Given the description of an element on the screen output the (x, y) to click on. 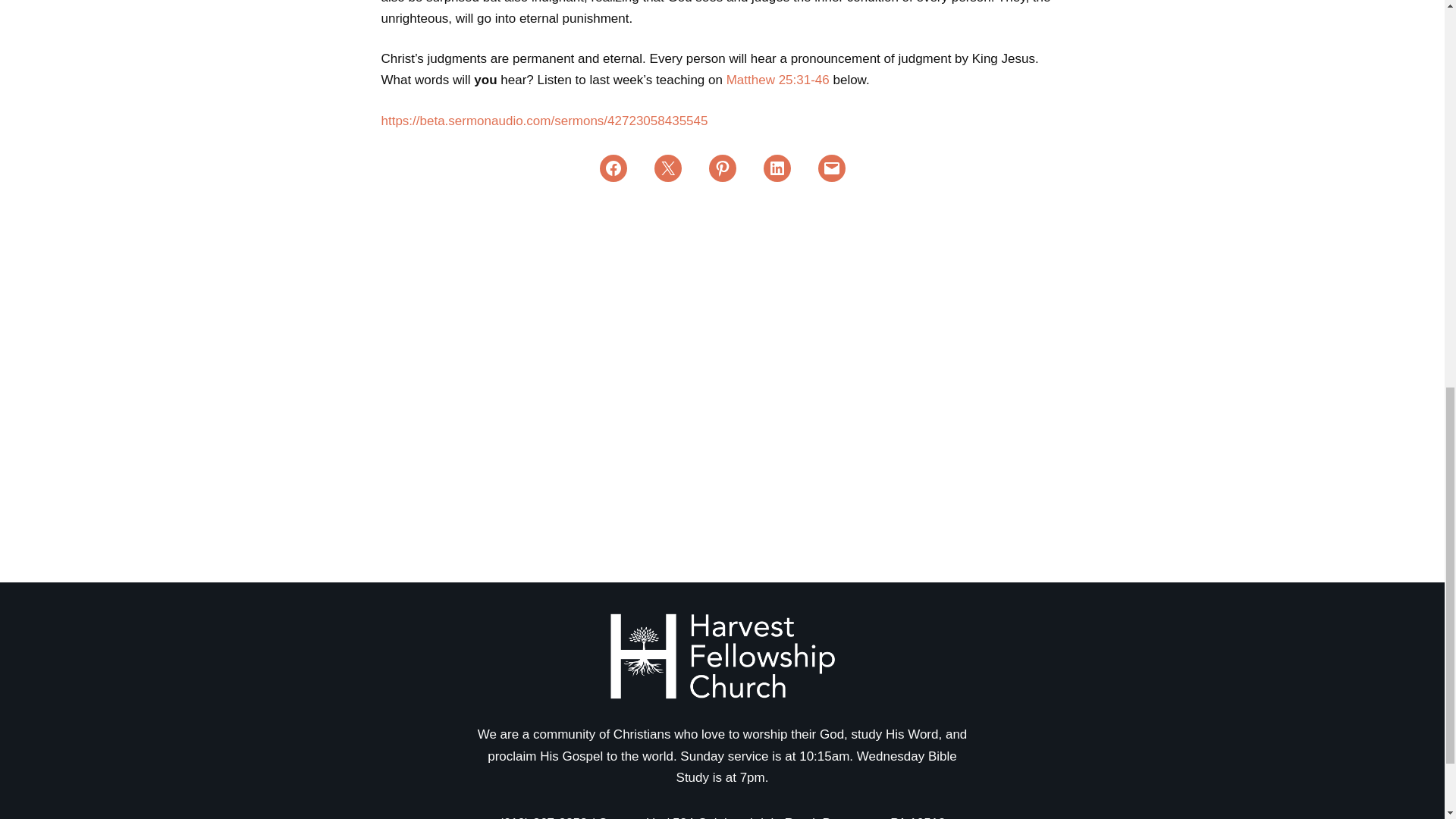
Matthew 25:31-46 (777, 79)
Share on Facebook (612, 167)
Share on Pinterest (721, 167)
Email this Page (667, 167)
